Given the description of an element on the screen output the (x, y) to click on. 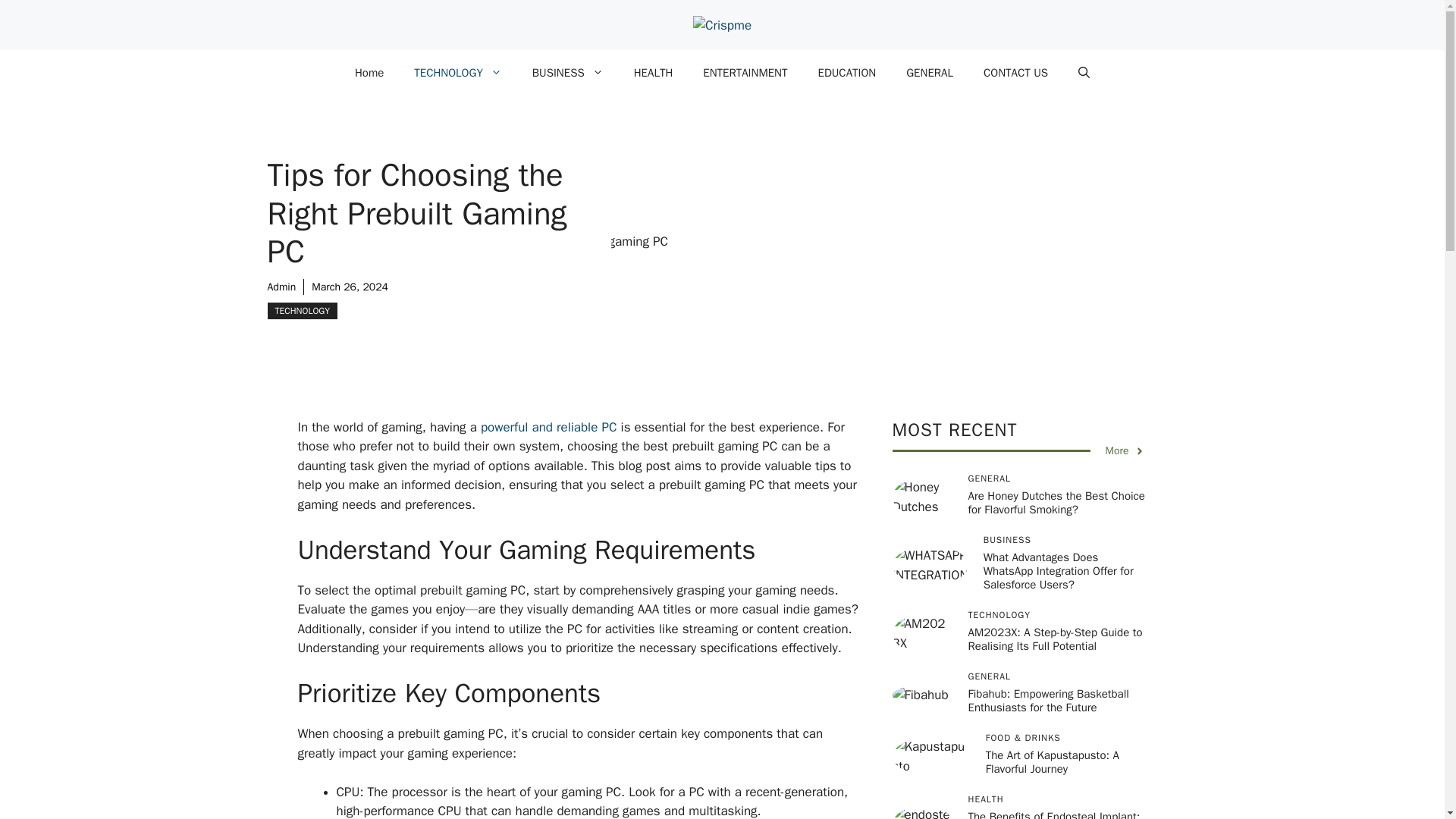
BUSINESS (567, 72)
CONTACT US (1015, 72)
TECHNOLOGY (301, 310)
powerful and reliable PC (548, 426)
Admin (280, 286)
TECHNOLOGY (457, 72)
GENERAL (929, 72)
Home (368, 72)
EDUCATION (846, 72)
ENTERTAINMENT (744, 72)
HEALTH (653, 72)
